Given the description of an element on the screen output the (x, y) to click on. 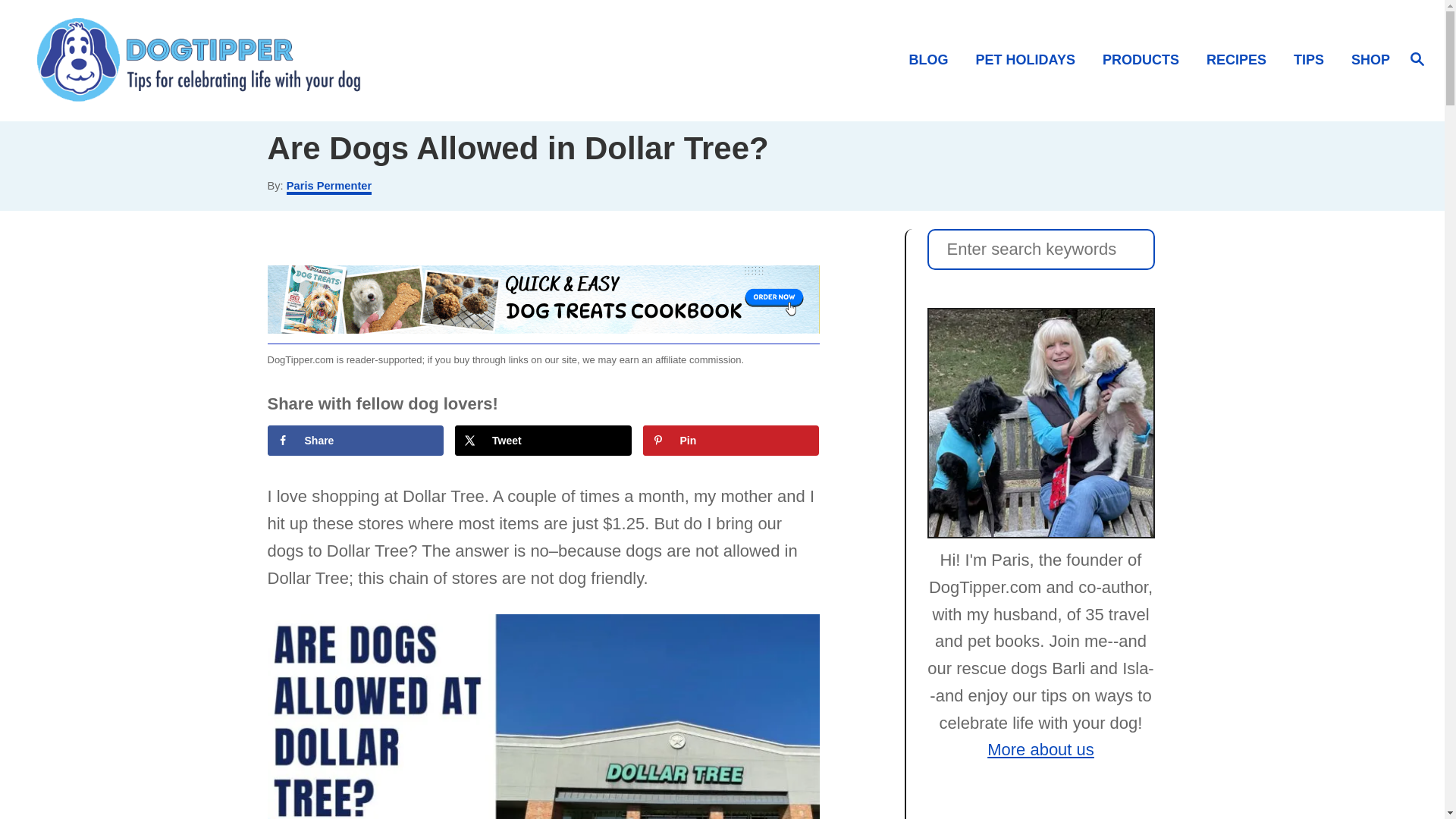
Paris Permenter (328, 186)
Share (355, 440)
SHOP (1366, 59)
Search for: (1040, 249)
PET HOLIDAYS (1029, 59)
RECIPES (1240, 59)
Tweet (542, 440)
PRODUCTS (1144, 59)
Pin (731, 440)
BLOG (932, 59)
TIPS (1313, 59)
Save to Pinterest (731, 440)
DogTipper Dog Blog (204, 60)
Magnifying Glass (1416, 58)
Share on Facebook (355, 440)
